Given the description of an element on the screen output the (x, y) to click on. 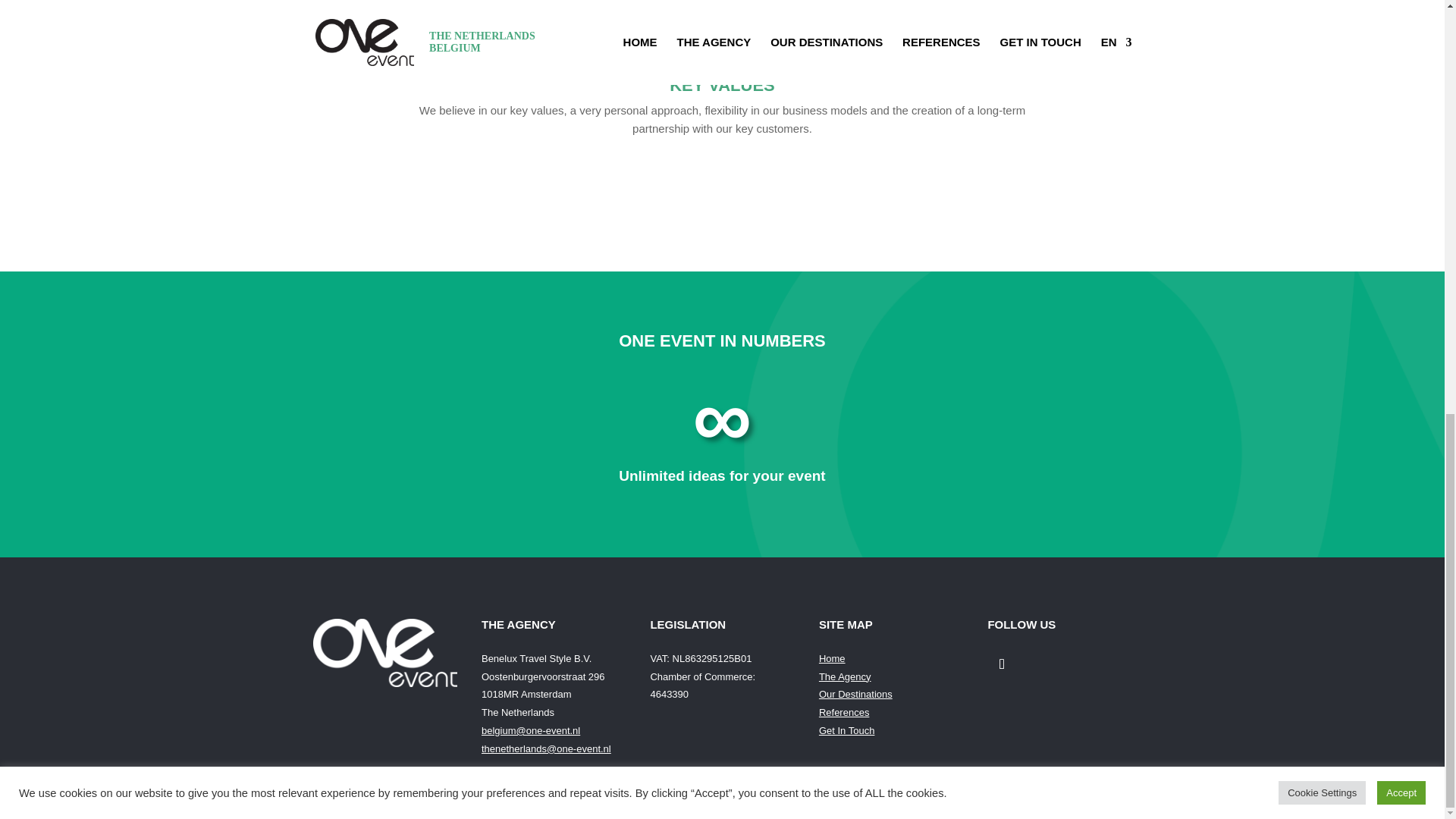
References (843, 712)
Follow on LinkedIn (1001, 664)
Privacy Policy (848, 787)
Get In Touch (846, 730)
Home (831, 658)
Our Destinations (855, 694)
The Agency (844, 676)
